Given the description of an element on the screen output the (x, y) to click on. 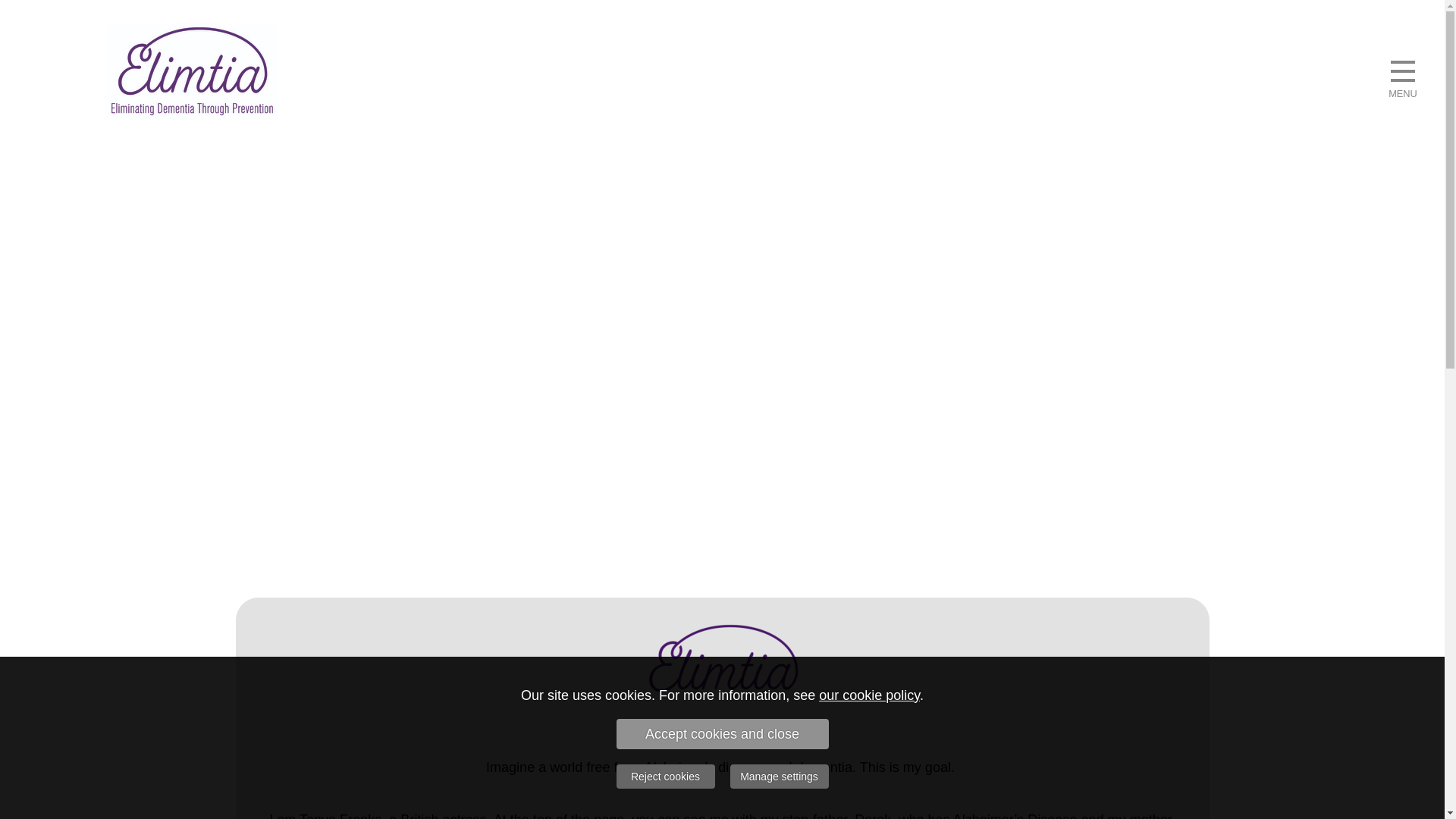
Manage settings (778, 776)
our cookie policy (869, 694)
